Given the description of an element on the screen output the (x, y) to click on. 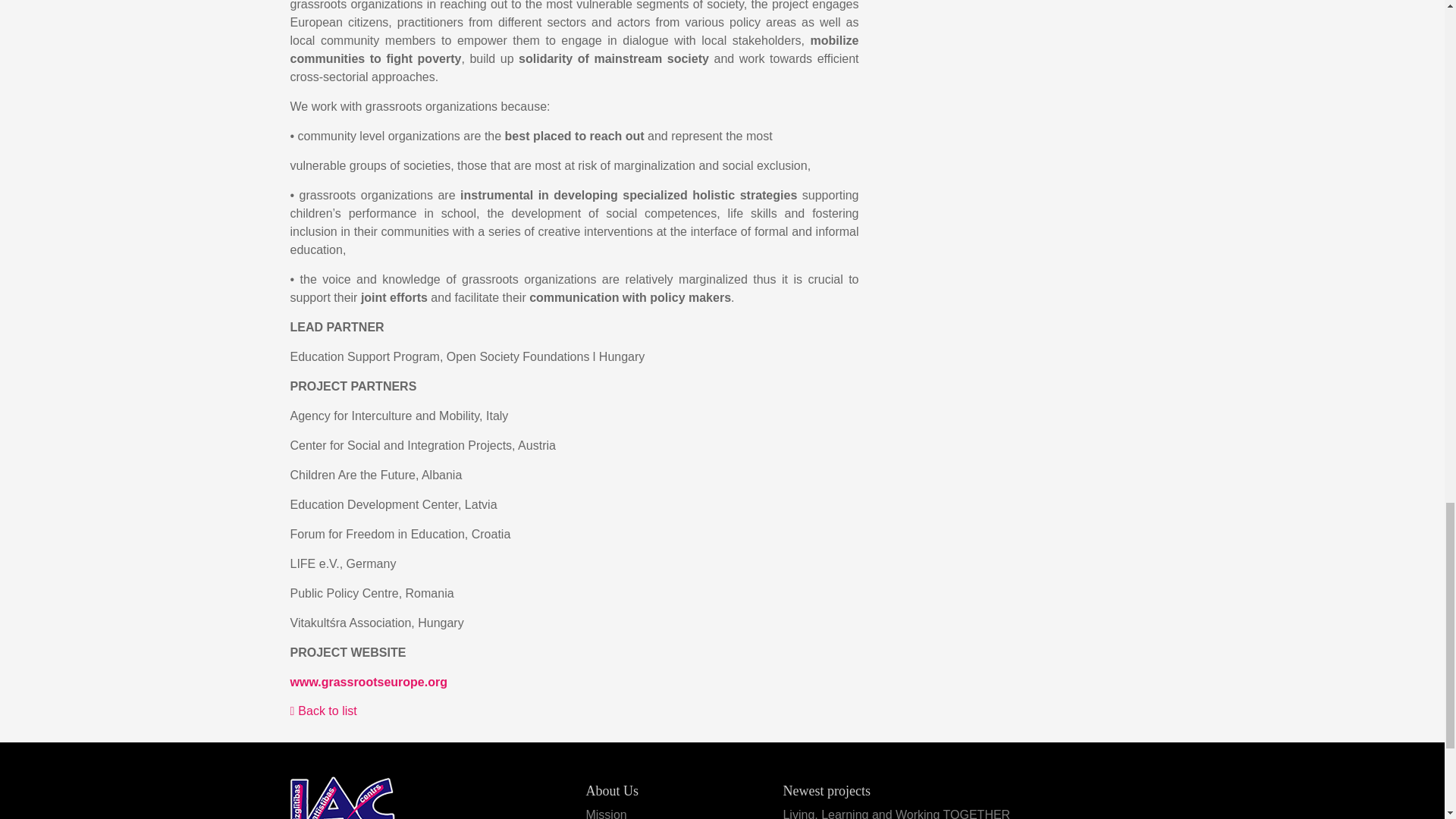
www.grassrootseurope.org (367, 681)
Back to list (322, 710)
